Given the description of an element on the screen output the (x, y) to click on. 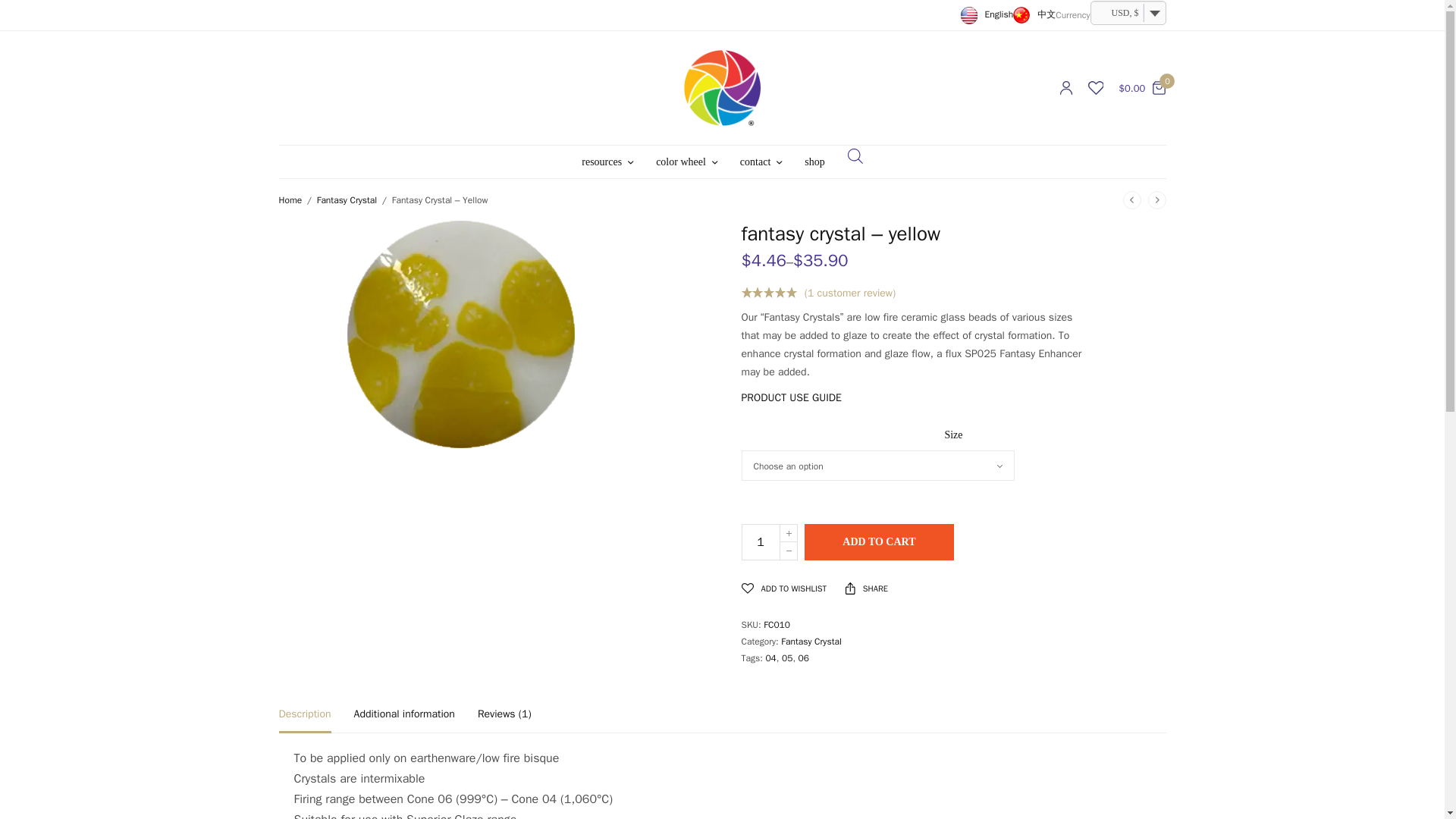
resources (606, 161)
1 (760, 542)
05 (786, 657)
Chrysanthos (722, 87)
color wheel (686, 161)
PRODUCT USE GUIDE (791, 397)
04 (770, 657)
Home (290, 200)
Wishlist (1095, 87)
ADD TO WISHLIST (784, 588)
ADD TO CART (879, 542)
My Account (1065, 87)
shop (814, 161)
Fantasy Crystal (810, 641)
SHARE (866, 588)
